Given the description of an element on the screen output the (x, y) to click on. 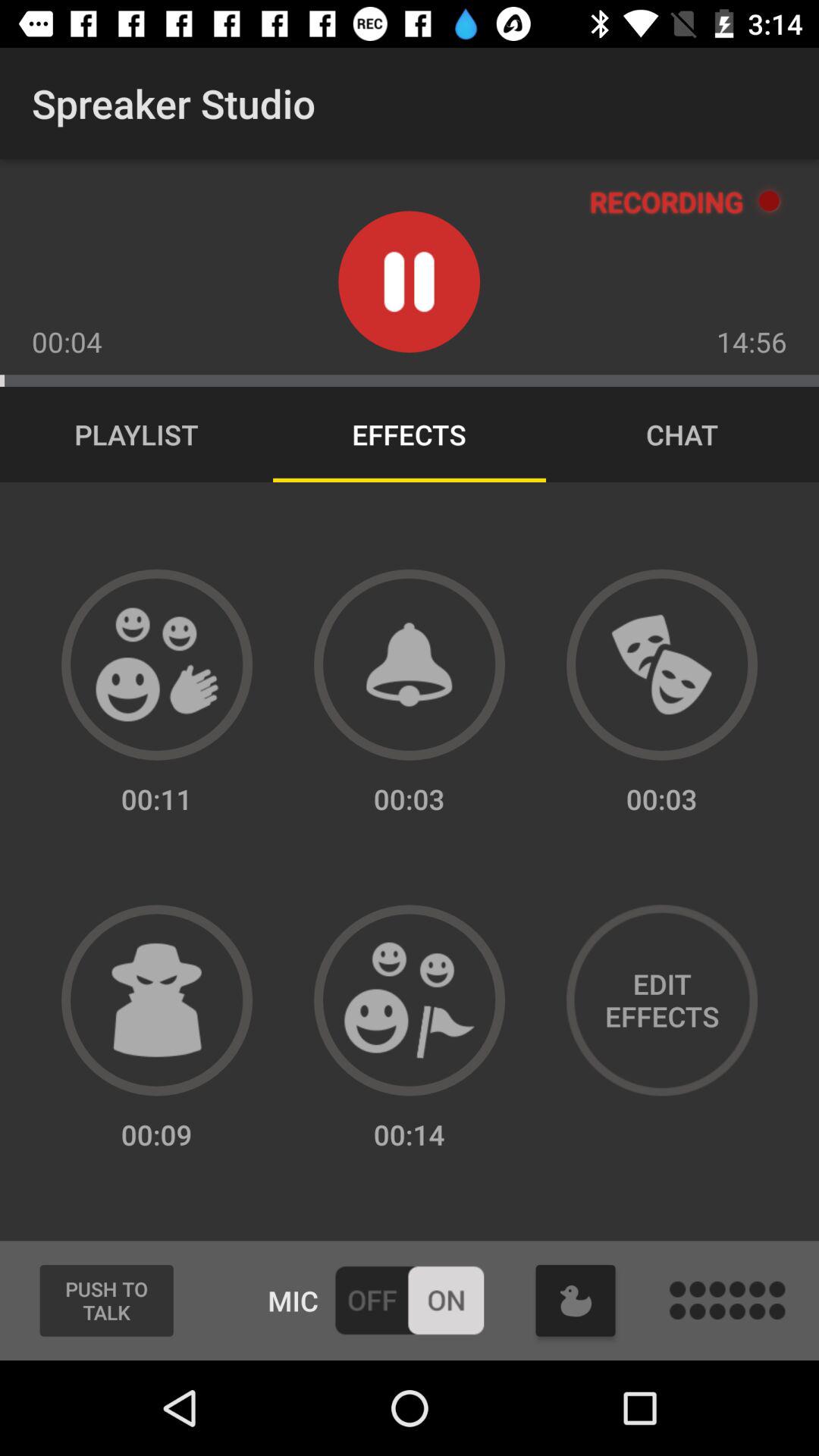
swipe until edit effects item (661, 999)
